Given the description of an element on the screen output the (x, y) to click on. 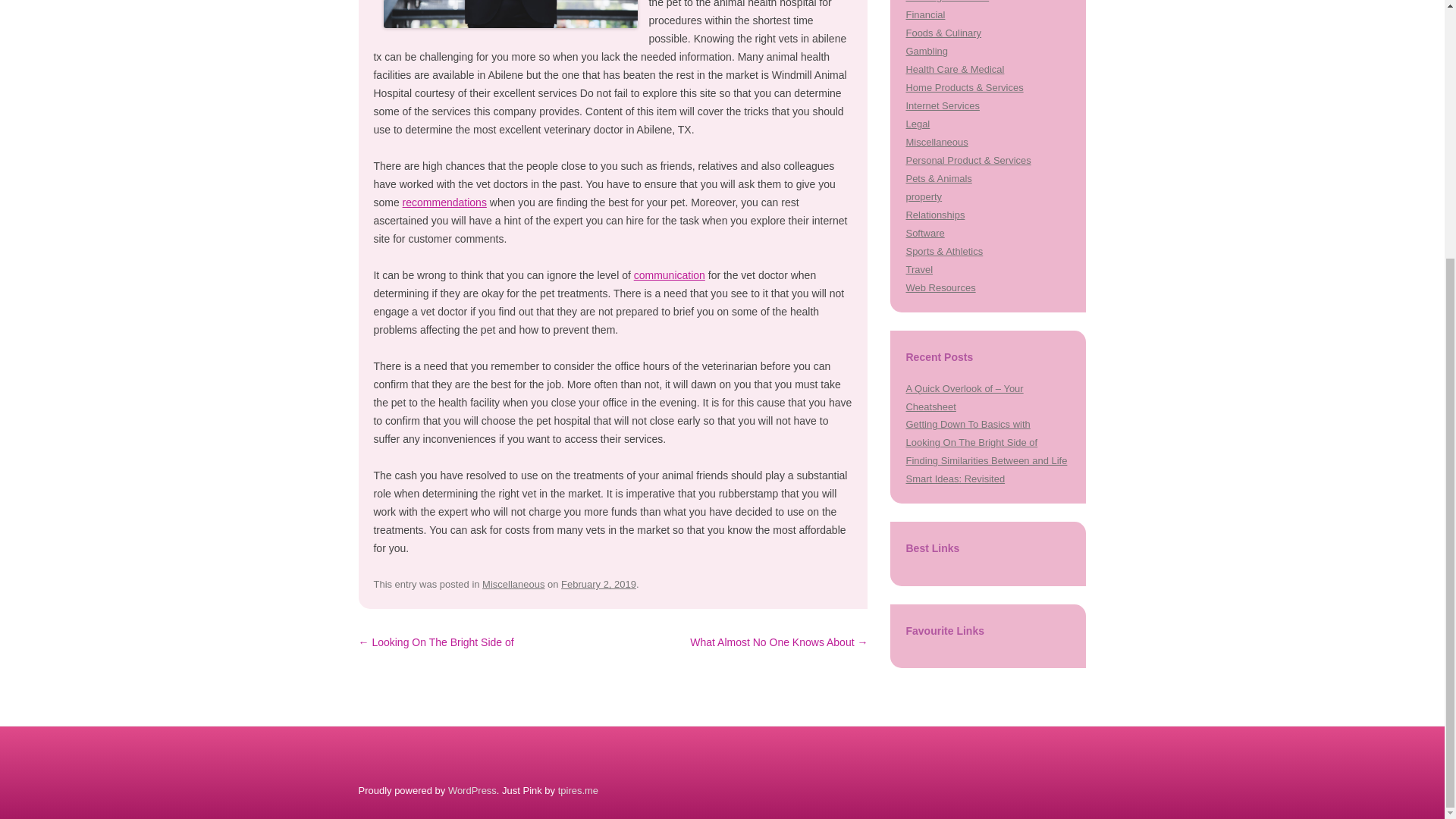
3:08 pm (598, 583)
Travel (919, 269)
Getting Down To Basics with (967, 423)
Legal (917, 123)
tpires.me (577, 790)
Web Resources (940, 287)
Internet Services (941, 105)
Looking On The Bright Side of (970, 441)
Software (924, 233)
WordPress (472, 790)
